Given the description of an element on the screen output the (x, y) to click on. 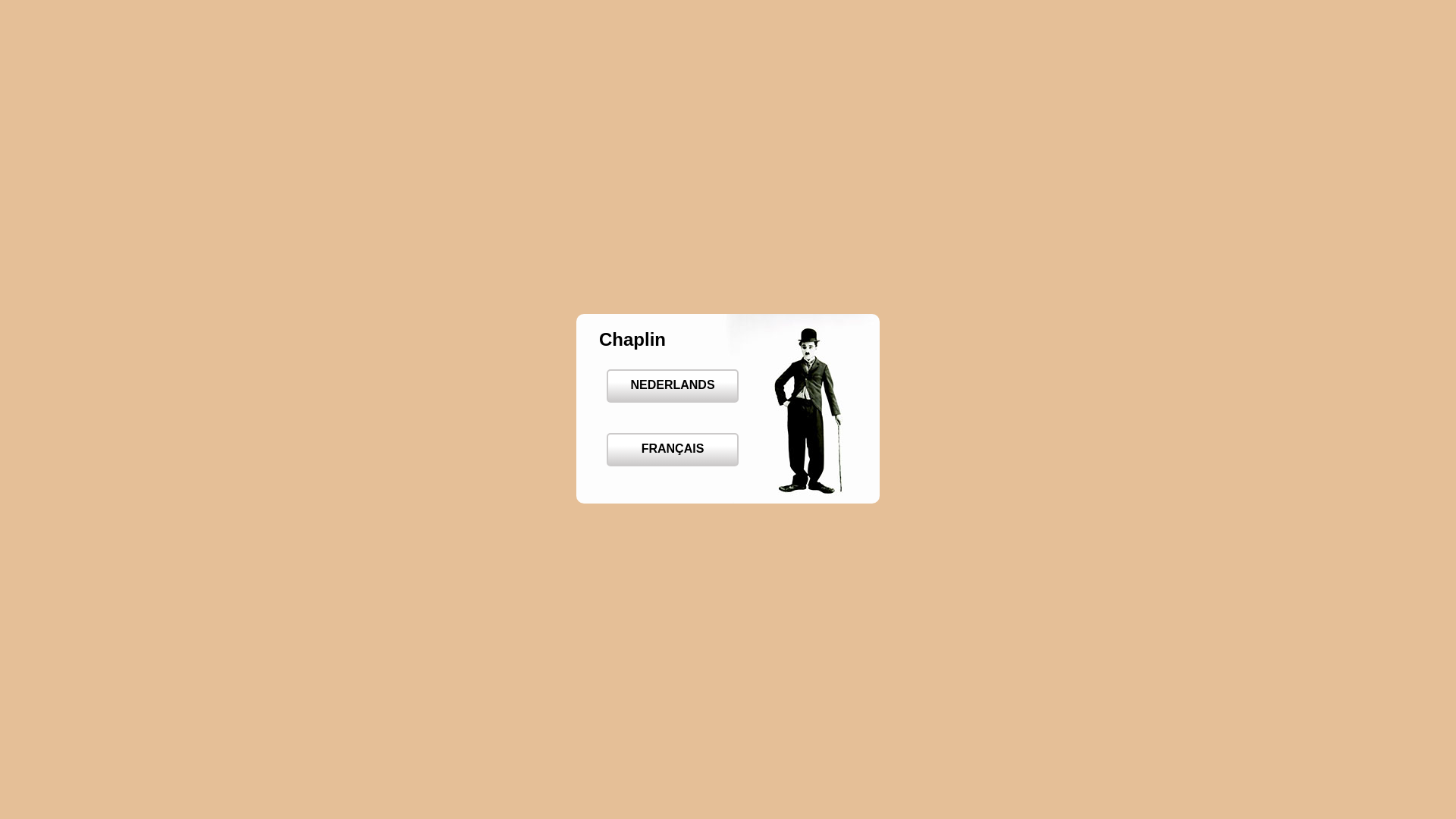
NEDERLANDS Element type: text (672, 385)
